Given the description of an element on the screen output the (x, y) to click on. 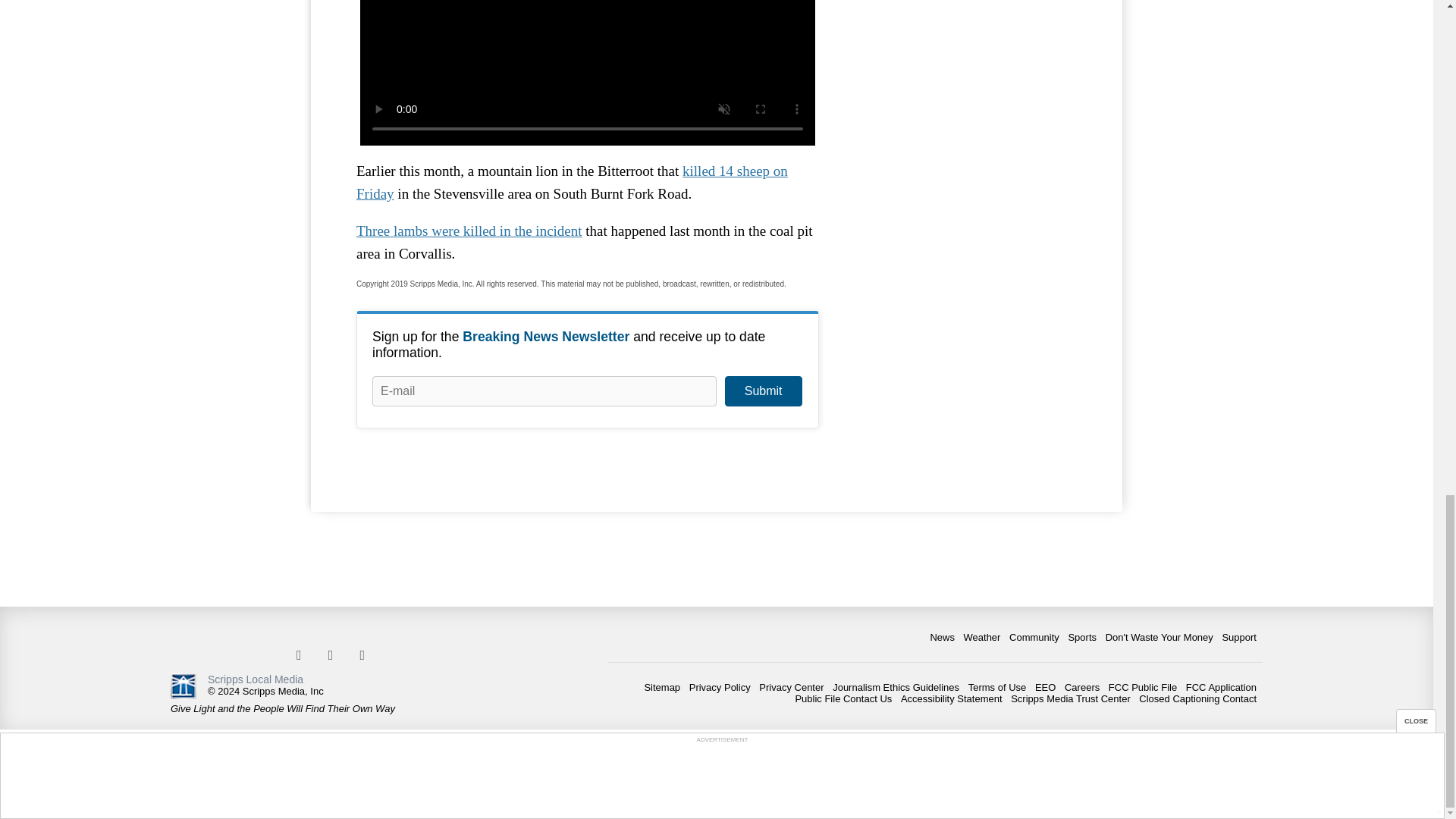
Submit (763, 390)
